Given the description of an element on the screen output the (x, y) to click on. 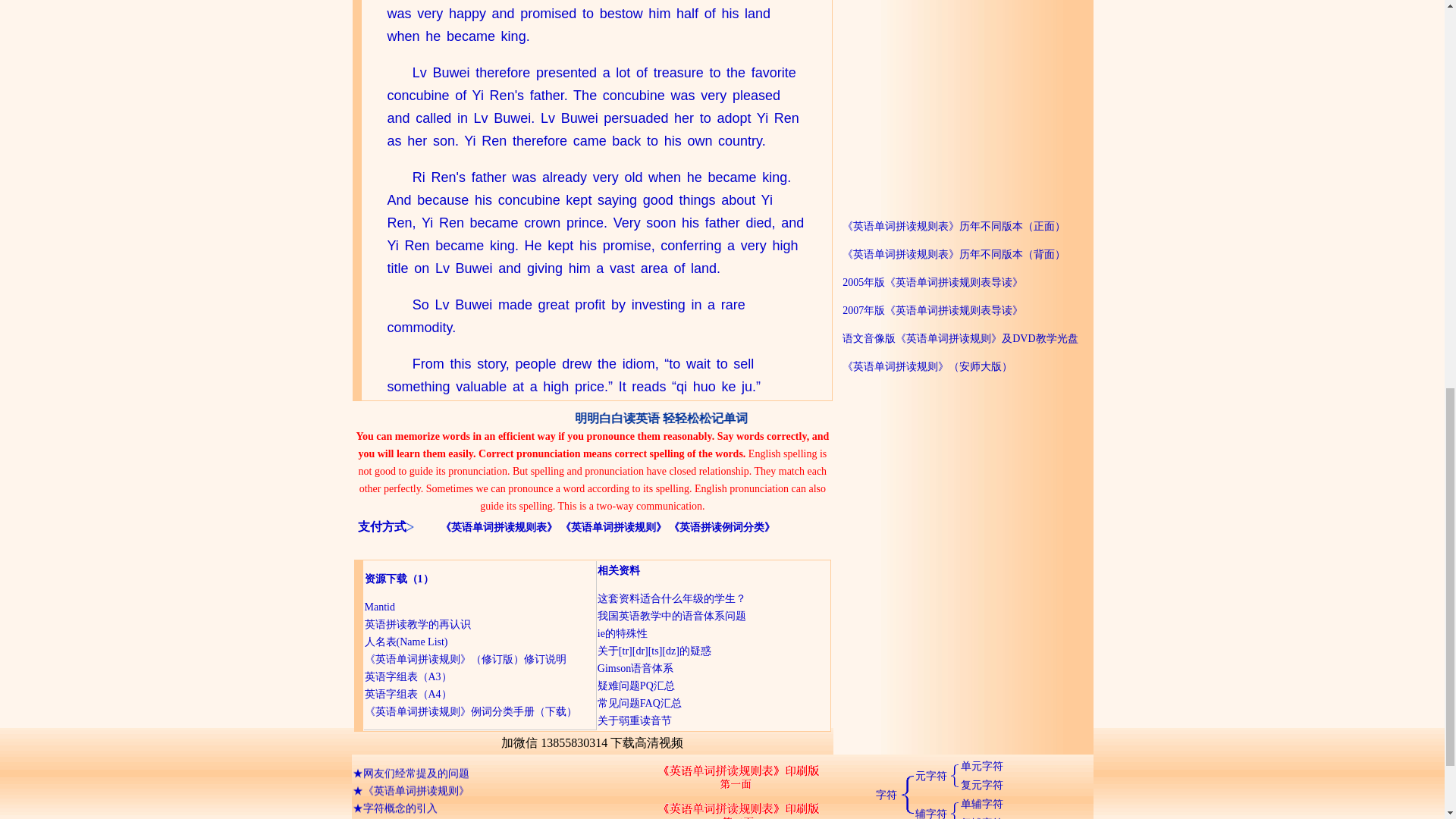
Mantid (379, 606)
